Given the description of an element on the screen output the (x, y) to click on. 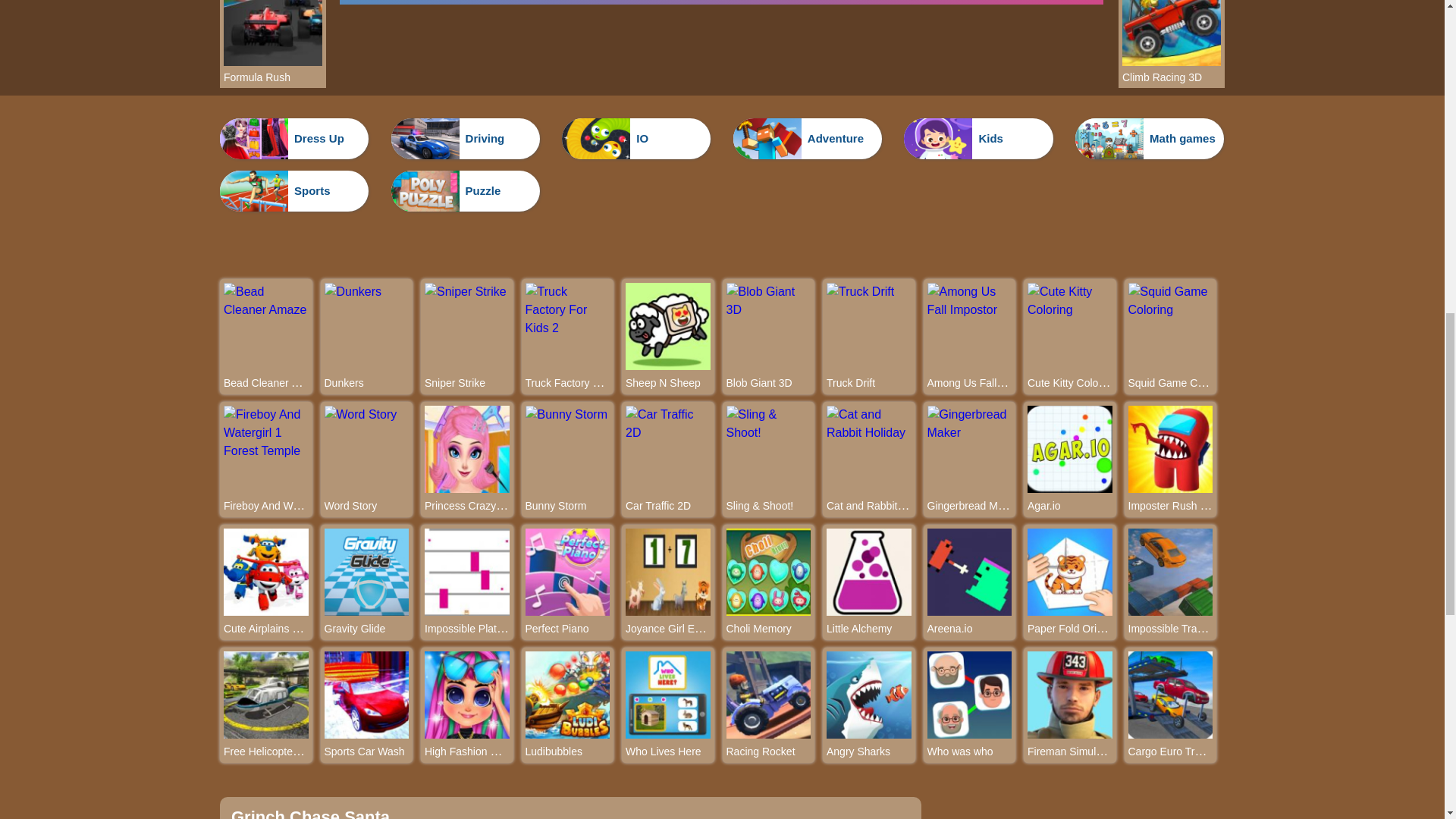
IO (636, 137)
Kids (978, 137)
Driving (465, 137)
Climb Racing 3D (1171, 77)
Dress Up (293, 137)
Formula Rush (272, 77)
Adventure (807, 137)
Formula Rush (272, 61)
Formula Rush (272, 77)
Math games (1149, 137)
